Given the description of an element on the screen output the (x, y) to click on. 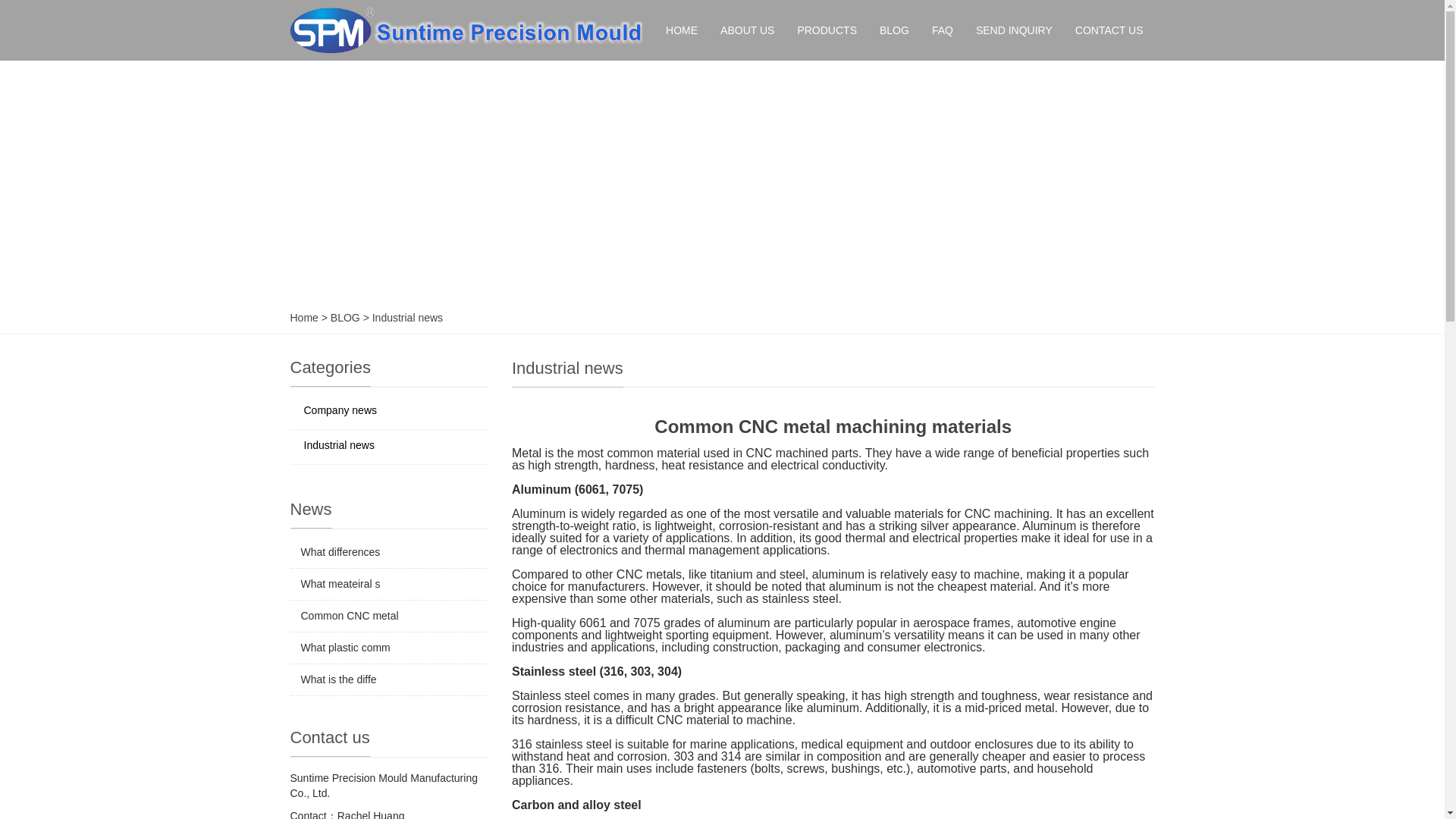
What plastic comm (344, 647)
ABOUT US (747, 30)
HOME (681, 30)
PRODUCTS (826, 30)
SEND INQUIRY (1013, 30)
What differences of Laser welding and tig welding? (339, 551)
What meateiral s (339, 583)
What is the diffe (337, 679)
BLOG (346, 317)
Common CNC metal machining materials (348, 615)
CONTACT US (1109, 30)
Company news (389, 410)
Home (303, 317)
BLOG (893, 30)
